Given the description of an element on the screen output the (x, y) to click on. 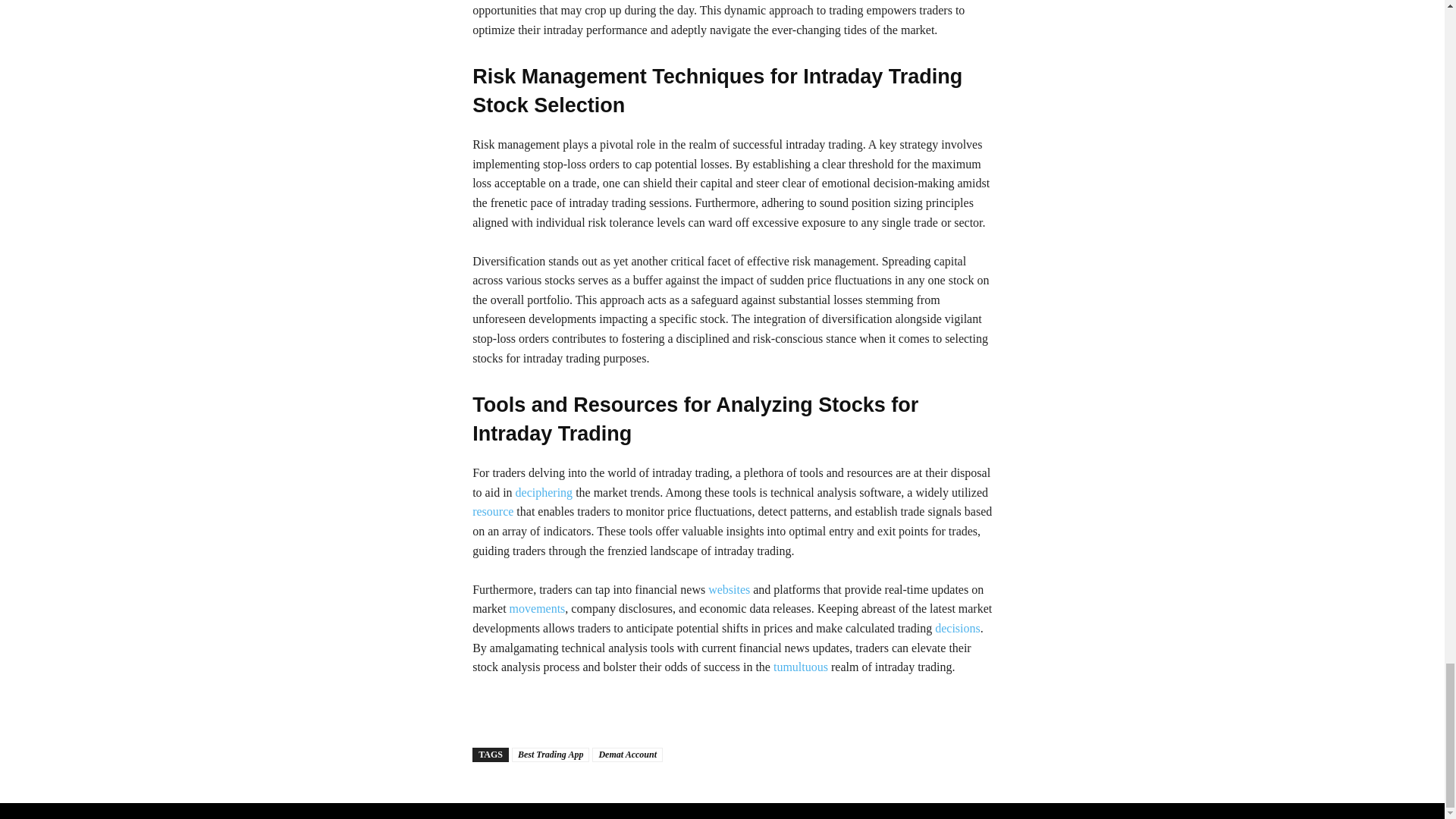
resource (492, 511)
deciphering (544, 492)
